Given the description of an element on the screen output the (x, y) to click on. 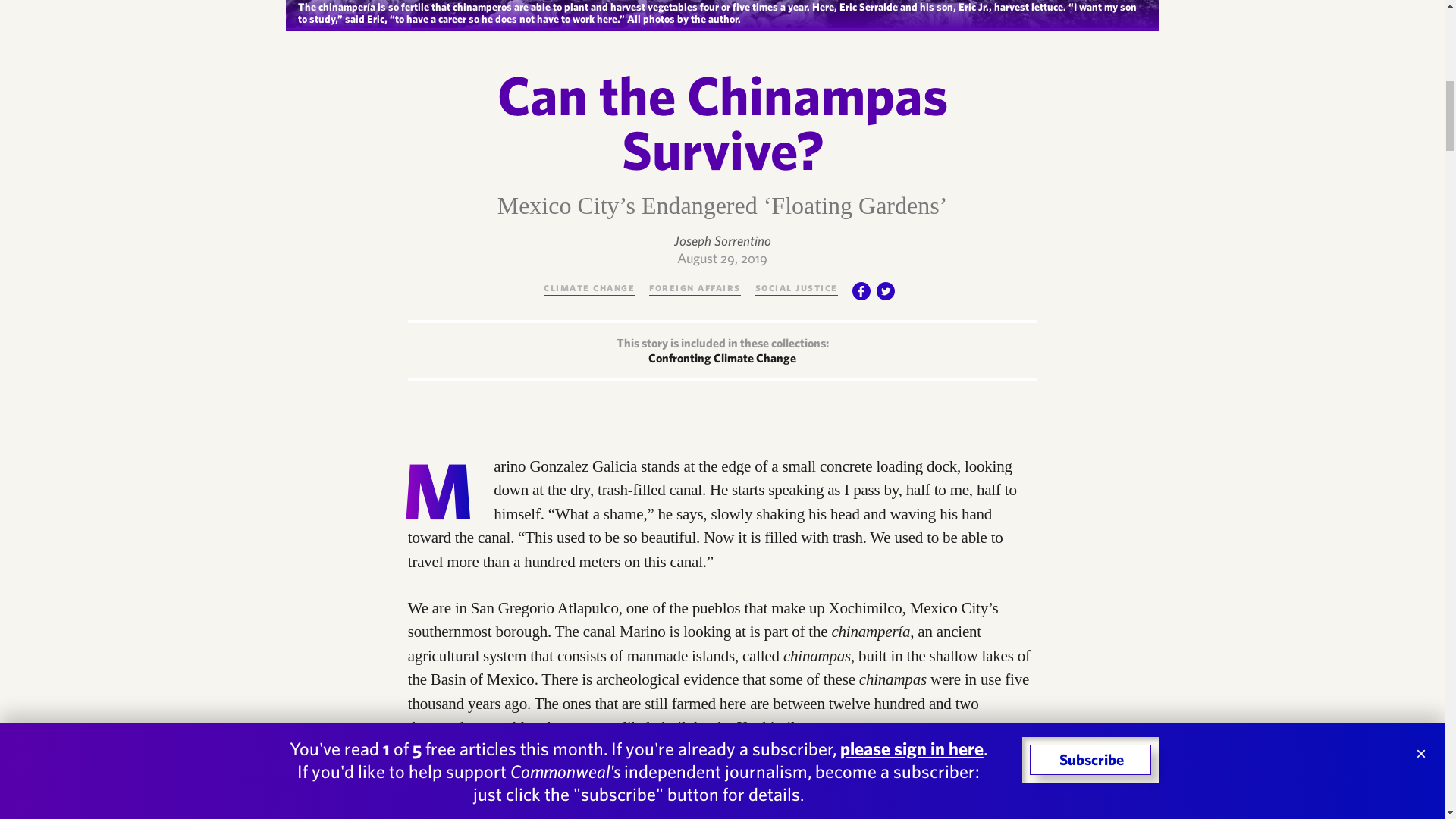
Climate Change (588, 286)
Joseph Sorrentino (721, 240)
Confronting Climate Change (721, 357)
Foreign Affairs (695, 286)
Thursday, August 29, 2019 - 13:04 (722, 258)
Social Justice (796, 286)
